Given the description of an element on the screen output the (x, y) to click on. 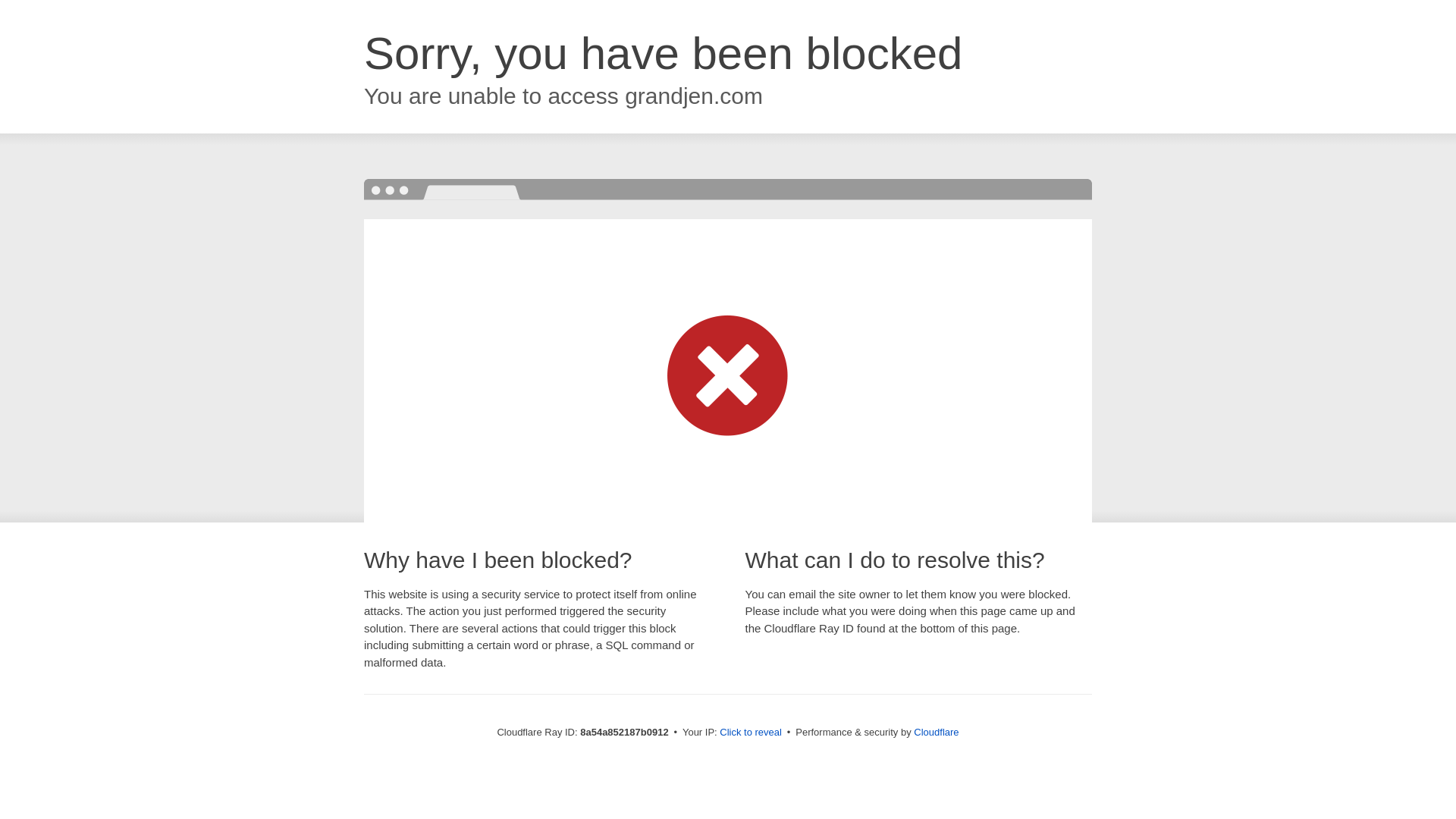
Cloudflare (936, 731)
Click to reveal (750, 732)
